Given the description of an element on the screen output the (x, y) to click on. 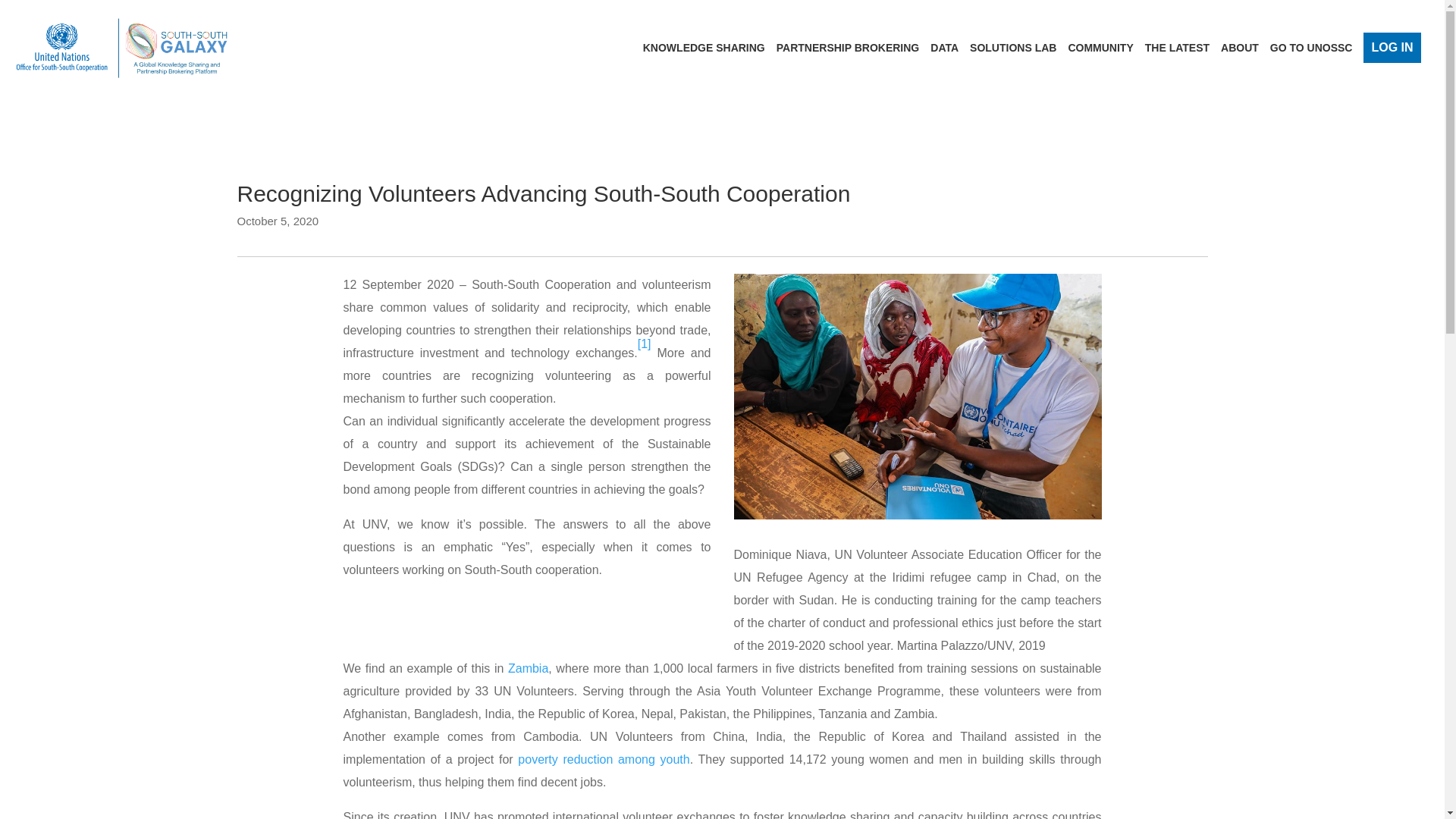
COMMUNITY (1099, 50)
GO TO UNOSSC (1310, 50)
Southsouth-Galaxy Logo (123, 47)
ABOUT (1240, 50)
SOLUTIONS LAB (1013, 50)
KNOWLEDGE SHARING (704, 50)
Zambia (528, 667)
PARTNERSHIP BROKERING (848, 50)
DATA (944, 50)
THE LATEST (1176, 50)
LOG IN (1391, 47)
poverty reduction among youth (603, 758)
